Given the description of an element on the screen output the (x, y) to click on. 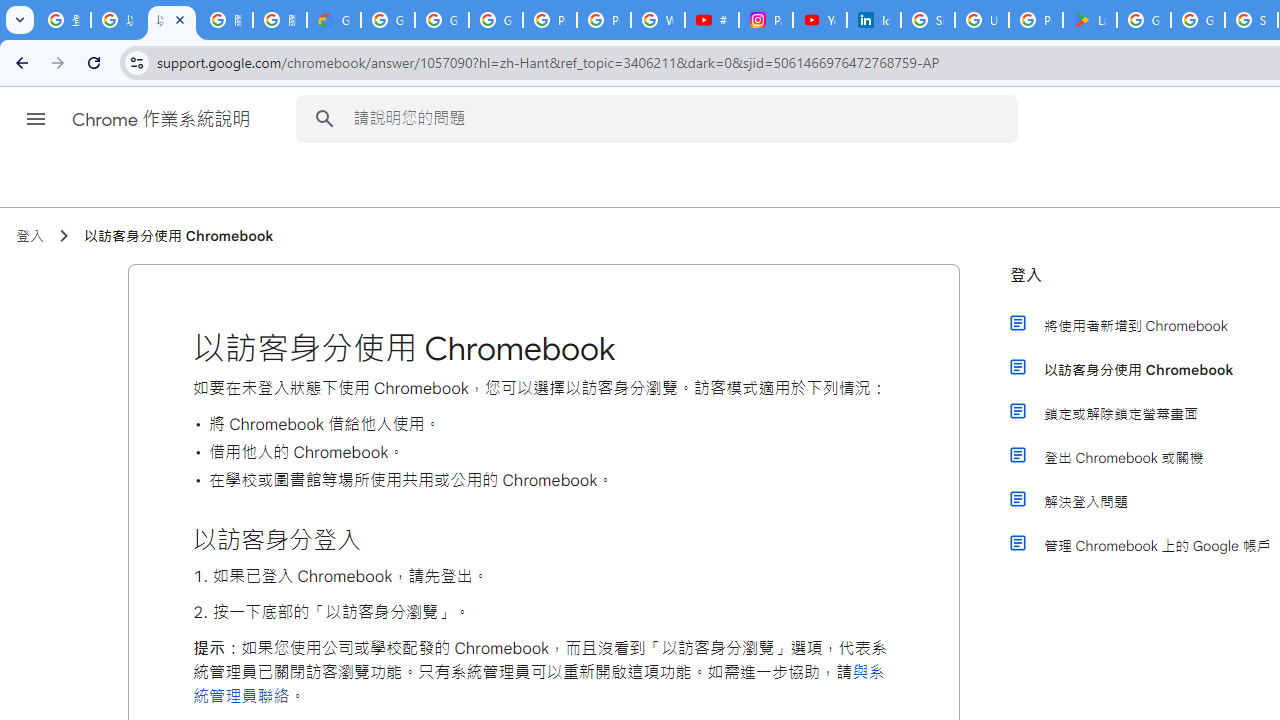
Privacy Help Center - Policies Help (604, 20)
Identity verification via Persona | LinkedIn Help (874, 20)
Last Shelter: Survival - Apps on Google Play (1089, 20)
